Given the description of an element on the screen output the (x, y) to click on. 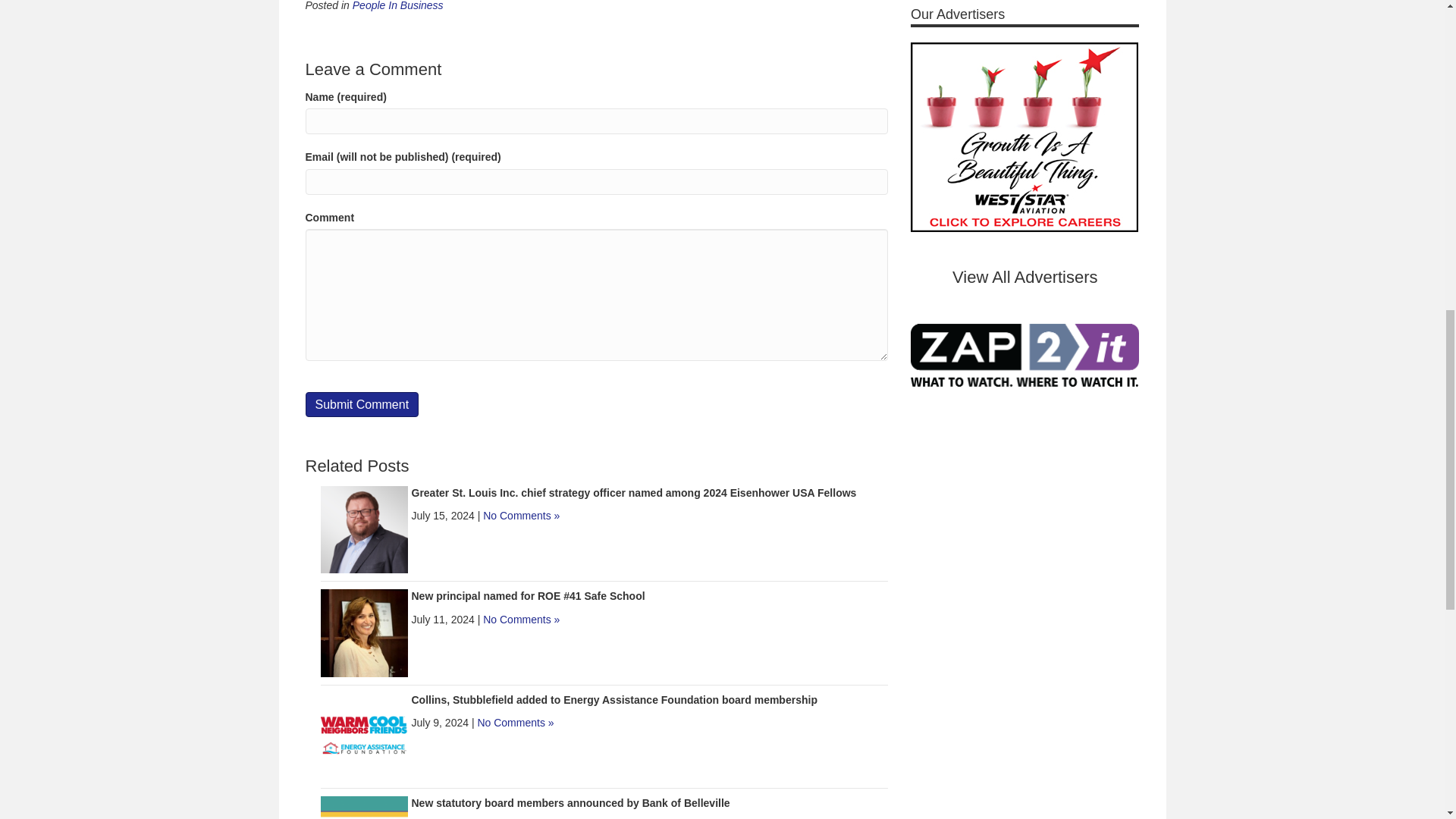
Submit Comment (361, 404)
Submit Comment (361, 404)
People In Business (398, 5)
New statutory board members announced by Bank of Belleville (569, 802)
